Given the description of an element on the screen output the (x, y) to click on. 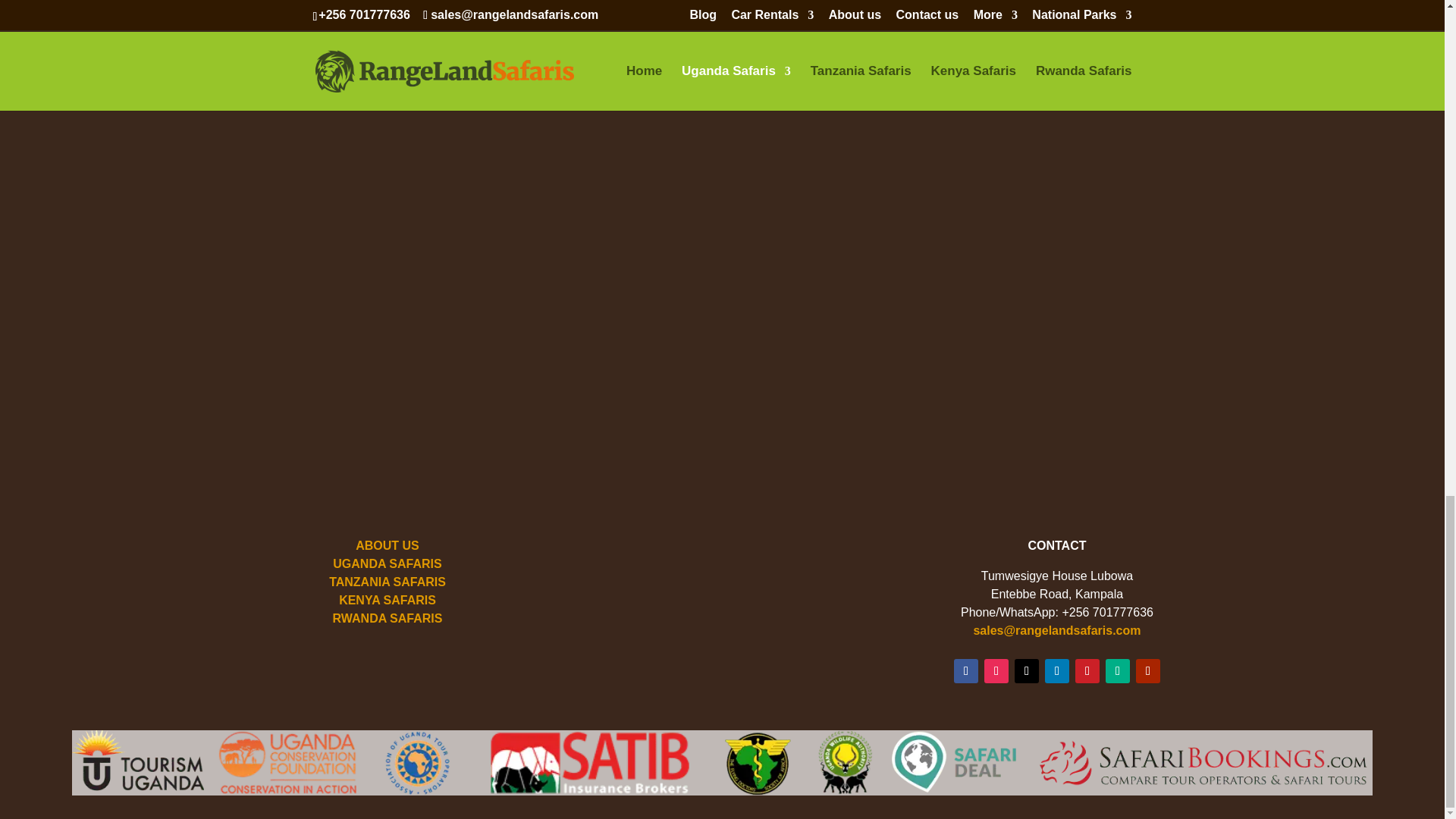
Follow on Pinterest (1087, 671)
Follow on LinkedIn (1056, 671)
Follow on Youtube (1147, 671)
partner members network (722, 762)
Follow on X (1026, 671)
Follow on TripAdvisor (1117, 671)
Follow on Facebook (965, 671)
Follow on Instagram (996, 671)
